Given the description of an element on the screen output the (x, y) to click on. 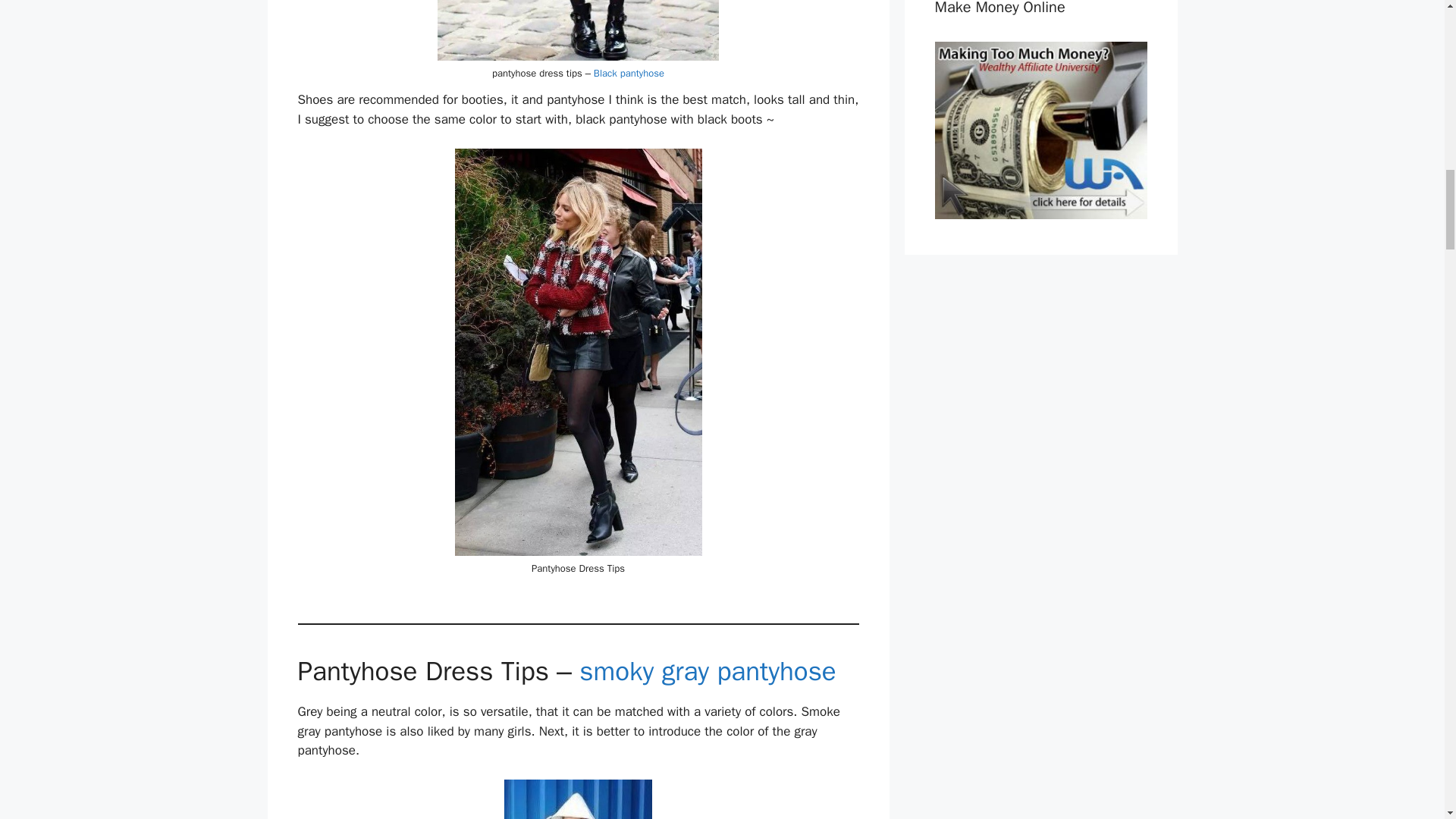
Black pantyhose (628, 72)
smoky gray pantyhose (707, 670)
